Given the description of an element on the screen output the (x, y) to click on. 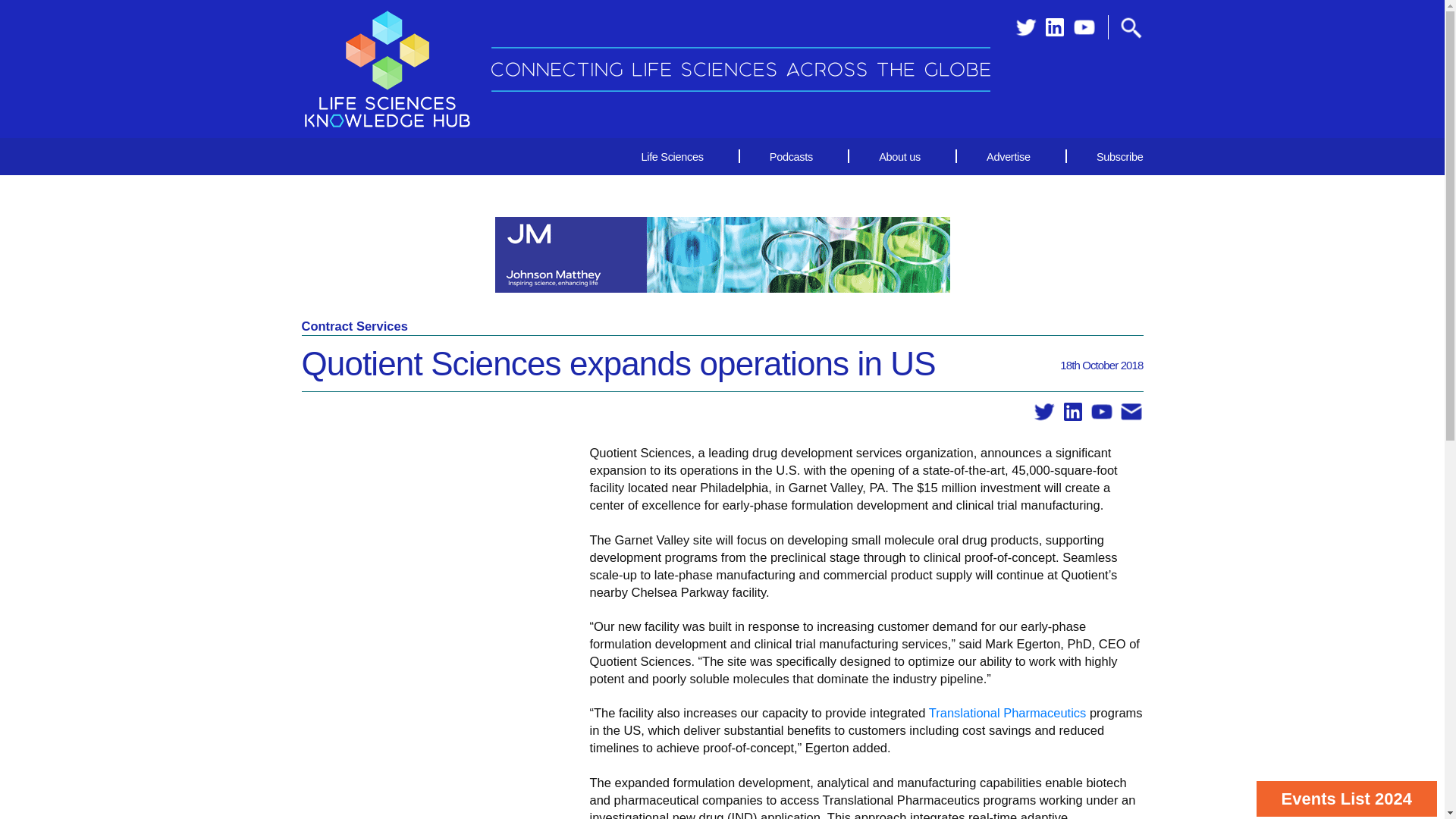
Subscribe (1106, 156)
email (1130, 412)
Life Sciences (672, 156)
linkedin (1072, 412)
Linkedin (1054, 27)
Events List 2024 (1346, 798)
youtube (1101, 412)
Translational Pharmaceutics (1007, 712)
About us (899, 156)
Advertise (1008, 156)
twitter (1025, 27)
youtube (1083, 27)
Podcasts (791, 156)
twitter (1044, 412)
